Given the description of an element on the screen output the (x, y) to click on. 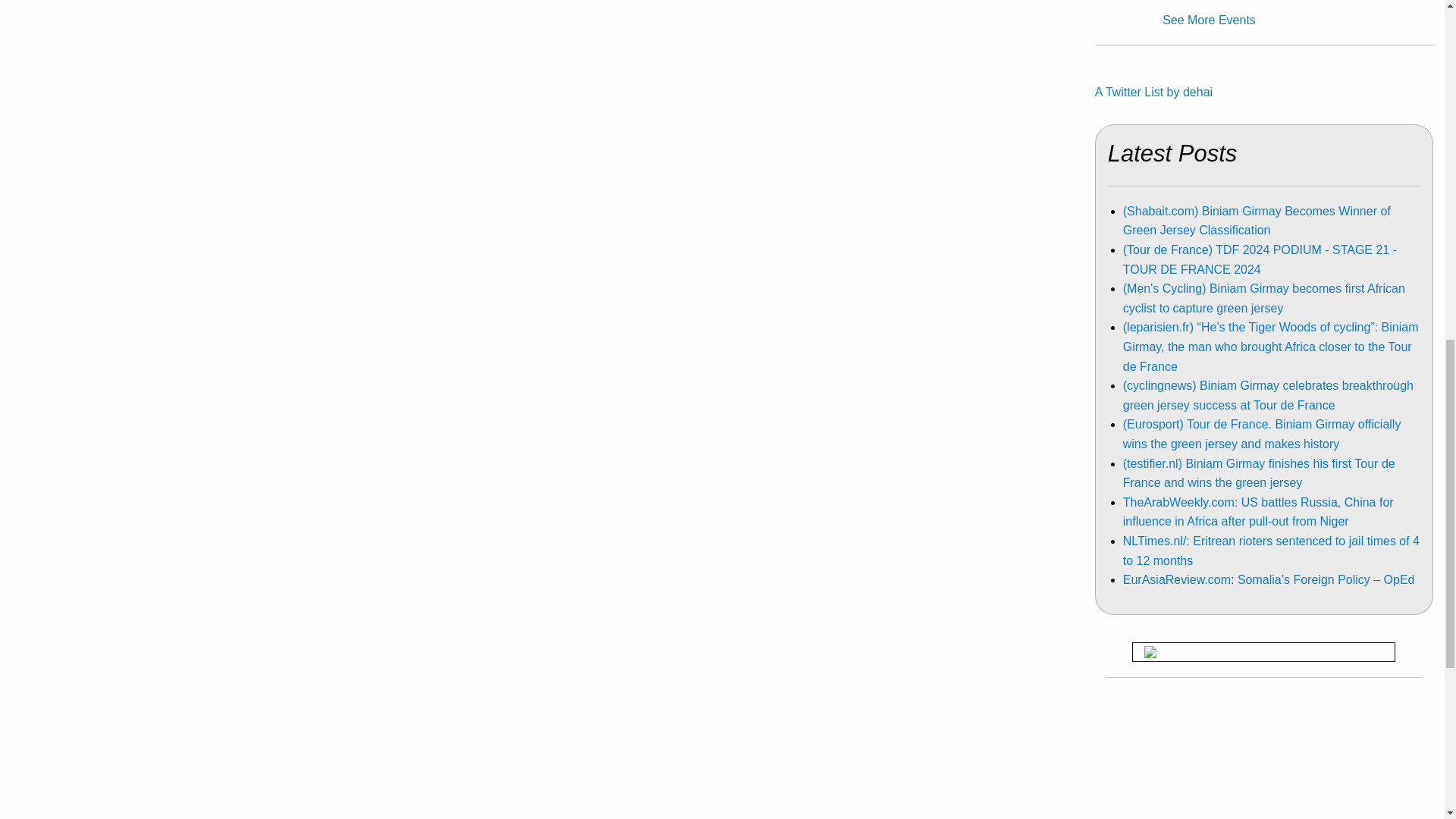
See More Events (1208, 19)
A Twitter List by dehai (1153, 91)
